Given the description of an element on the screen output the (x, y) to click on. 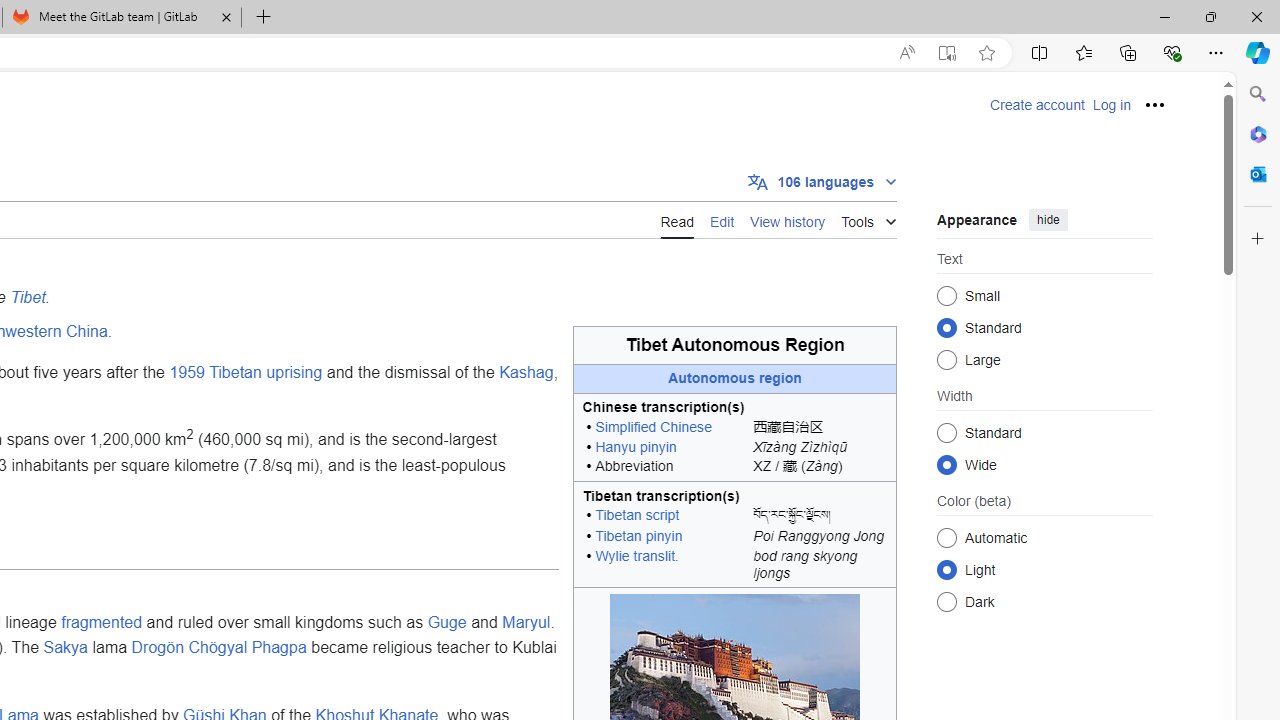
Automatic (946, 537)
Create account (1037, 105)
Guge (447, 621)
Sakya (65, 647)
Tibet (28, 297)
Read (676, 219)
Tibet Autonomous Region (735, 345)
